Given the description of an element on the screen output the (x, y) to click on. 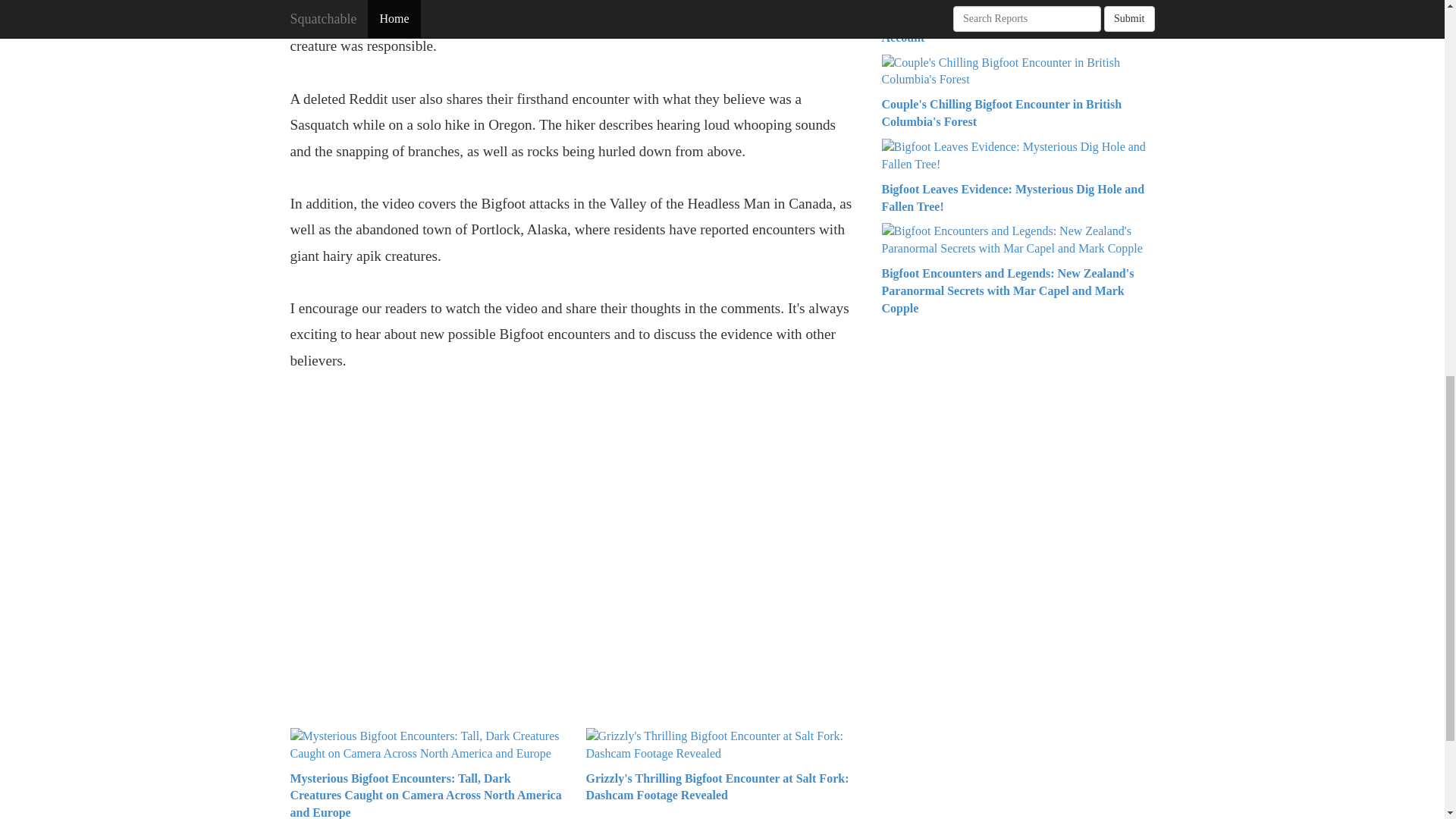
Bigfoot Drags Moose Carcass in Maine: Witness Account (1005, 28)
